Given the description of an element on the screen output the (x, y) to click on. 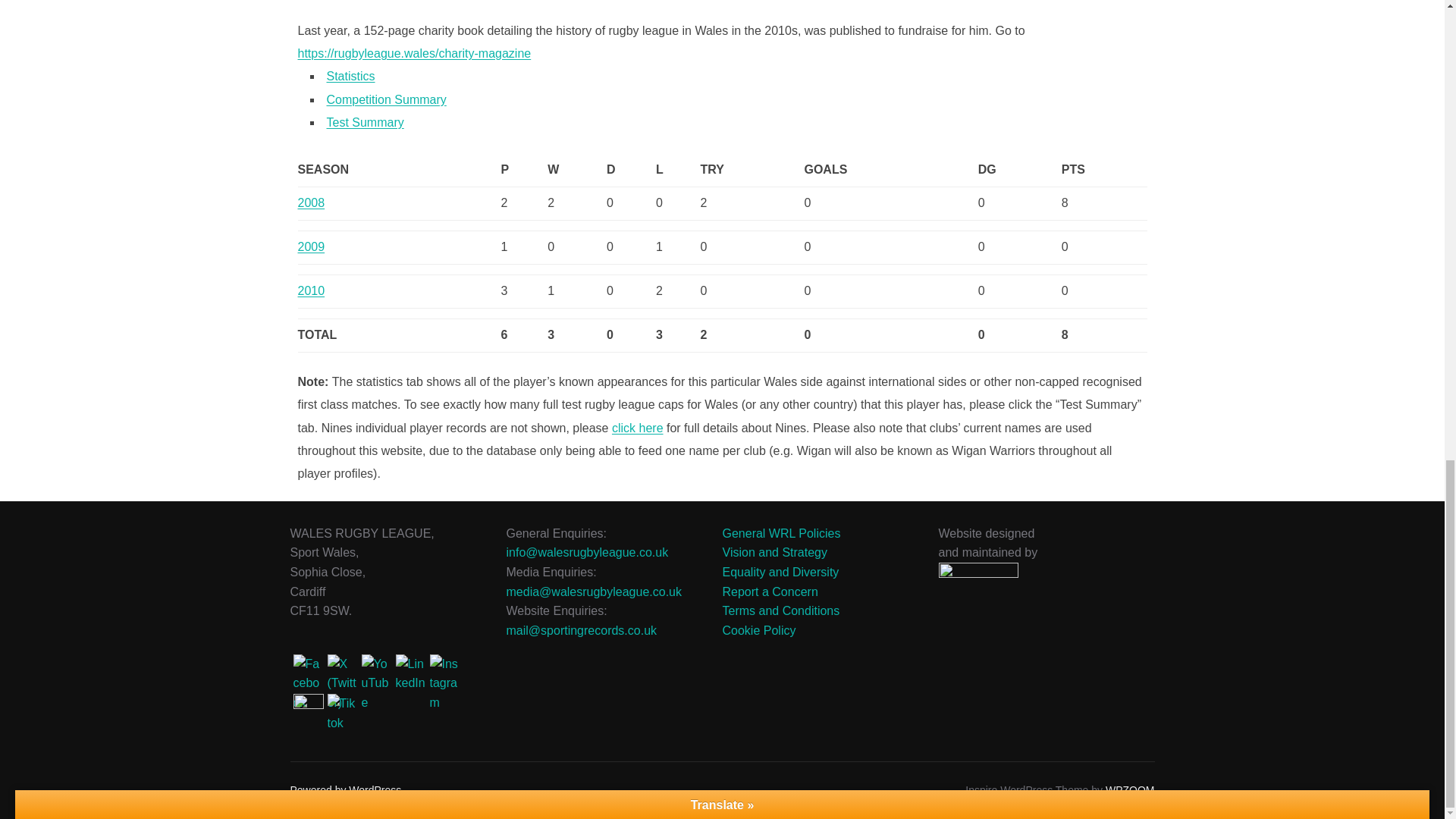
Drop Goals (1019, 170)
Won (577, 170)
Tries (752, 170)
Points (1104, 170)
Goals (889, 170)
Drawn (631, 170)
Matches (523, 170)
Lost (678, 170)
